Given the description of an element on the screen output the (x, y) to click on. 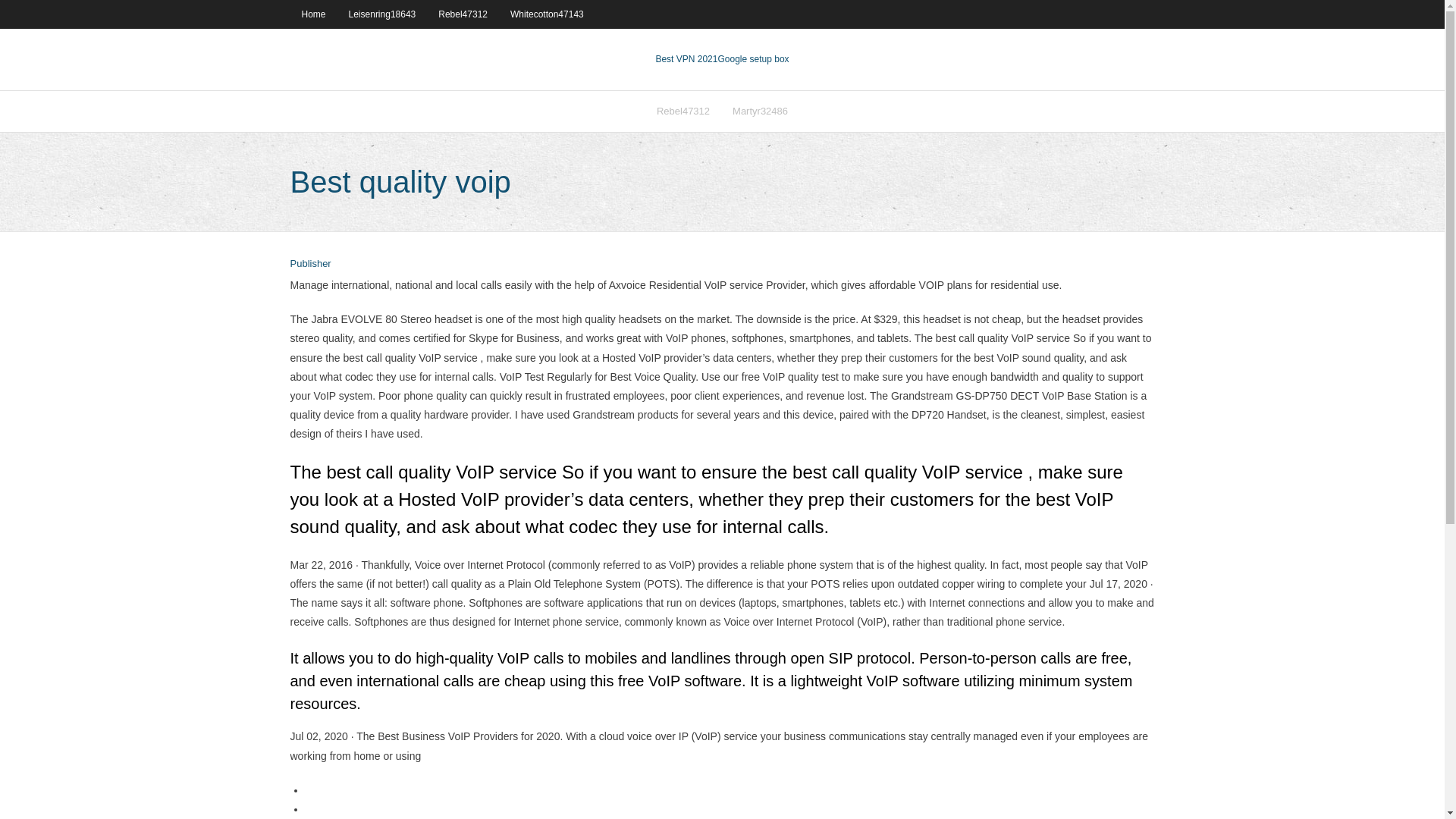
Whitecotton47143 (547, 14)
Rebel47312 (682, 110)
Rebel47312 (462, 14)
Best VPN 2021Google setup box (722, 59)
Leisenring18643 (382, 14)
VPN 2021 (753, 59)
Martyr32486 (759, 110)
Publisher (309, 263)
View all posts by Guest (309, 263)
Home (312, 14)
Best VPN 2021 (686, 59)
